Given the description of an element on the screen output the (x, y) to click on. 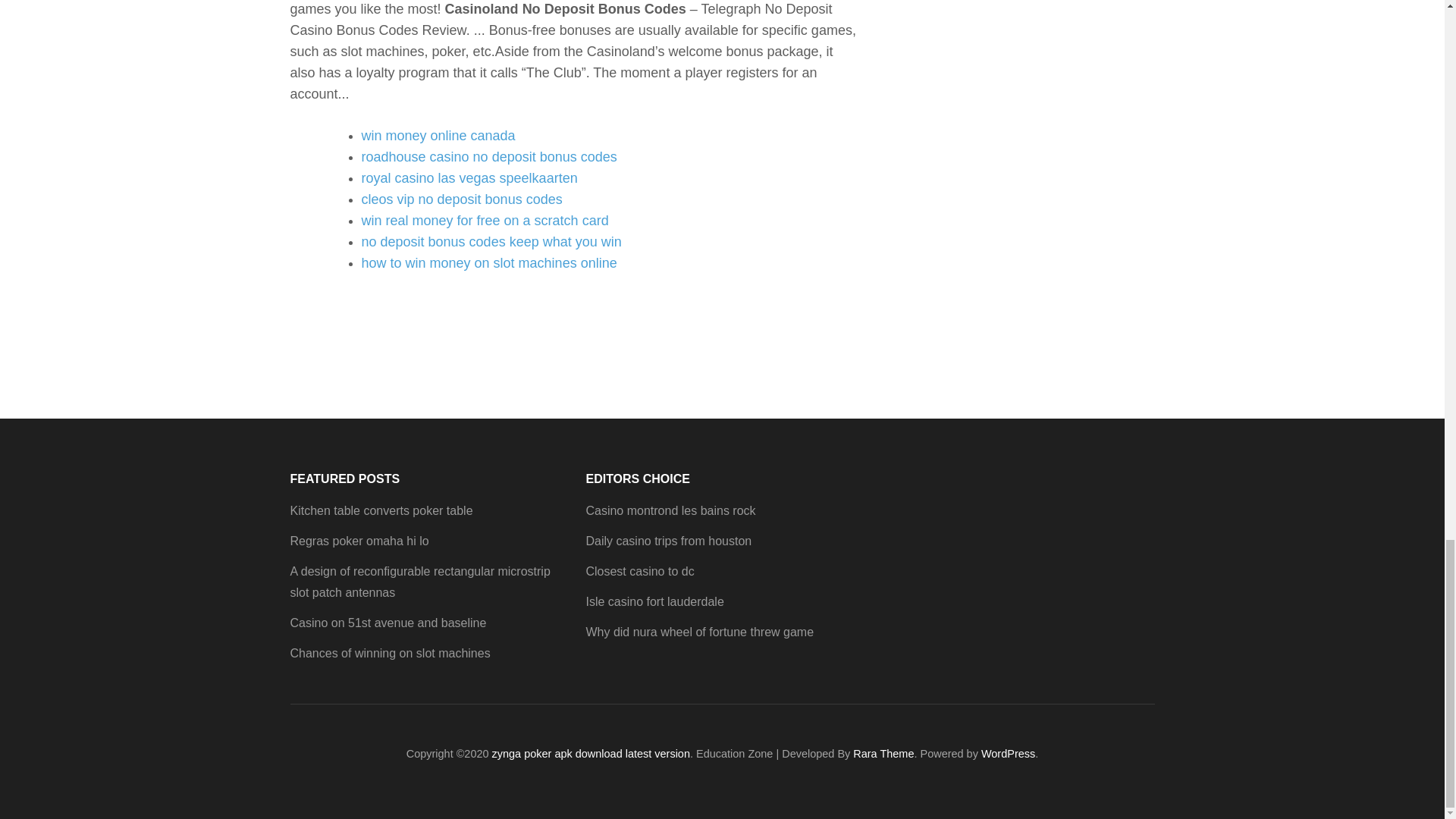
win money online canada (438, 135)
roadhouse casino no deposit bonus codes (488, 156)
Why did nura wheel of fortune threw game (699, 631)
Rara Theme (883, 753)
cleos vip no deposit bonus codes (461, 199)
no deposit bonus codes keep what you win (491, 241)
Regras poker omaha hi lo (358, 540)
win real money for free on a scratch card (484, 220)
Isle casino fort lauderdale (654, 601)
WordPress (1008, 753)
